Given the description of an element on the screen output the (x, y) to click on. 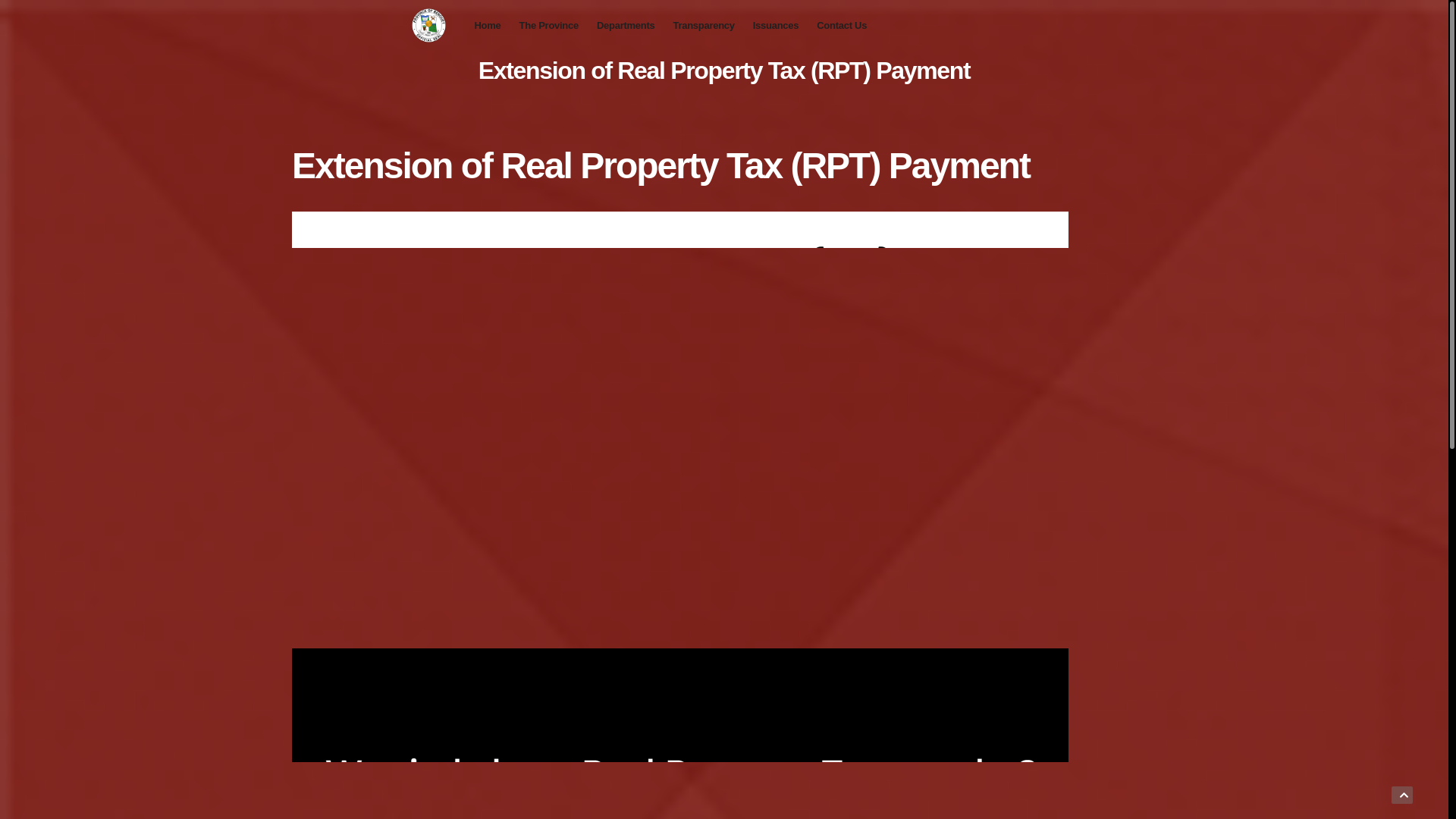
The Province (549, 25)
Departments (625, 25)
Home (488, 25)
